Given the description of an element on the screen output the (x, y) to click on. 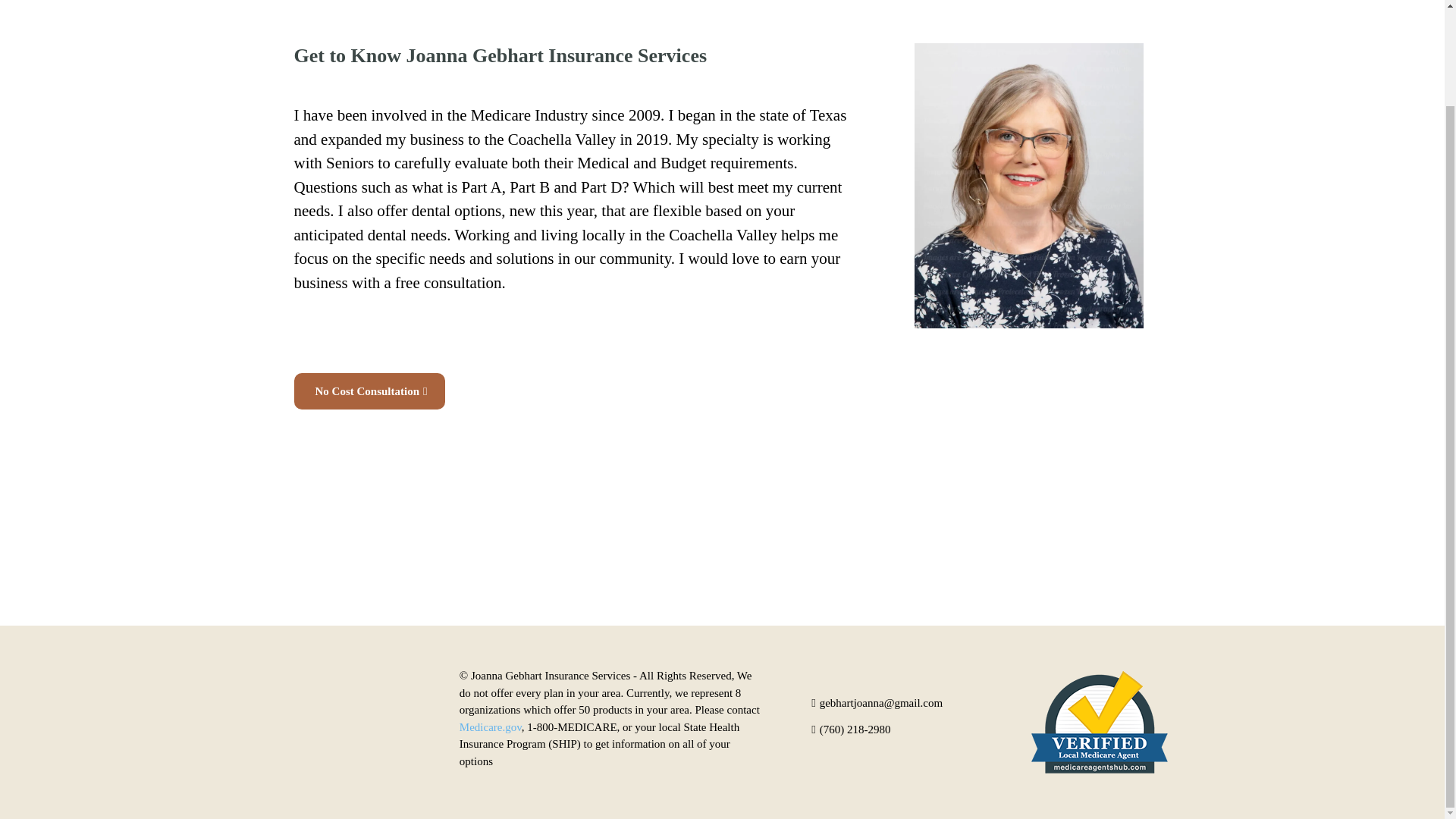
Verified Local Agent on Medicare Agents Hub - Joanna Gebhart (1098, 721)
Medicare.gov (490, 727)
No Cost Consultation (369, 391)
